Given the description of an element on the screen output the (x, y) to click on. 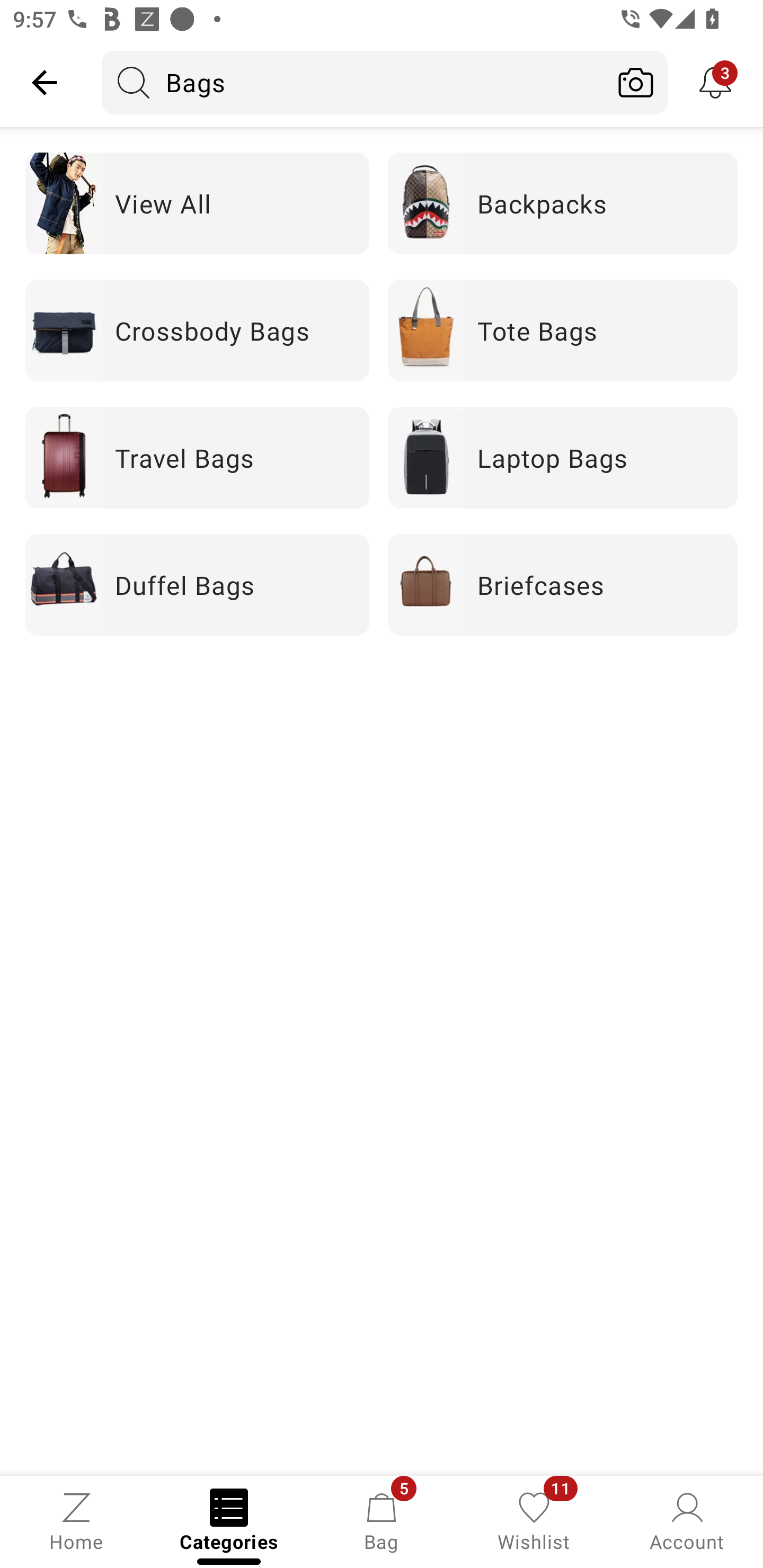
Navigate up (44, 82)
Bags (352, 82)
View All (197, 203)
Backpacks (562, 203)
Crossbody Bags (197, 330)
Tote Bags (562, 330)
Travel Bags (197, 457)
Laptop Bags (562, 457)
Duffel Bags (197, 584)
Briefcases (562, 584)
Home (76, 1519)
Bag, 5 new notifications Bag (381, 1519)
Wishlist, 11 new notifications Wishlist (533, 1519)
Account (686, 1519)
